Given the description of an element on the screen output the (x, y) to click on. 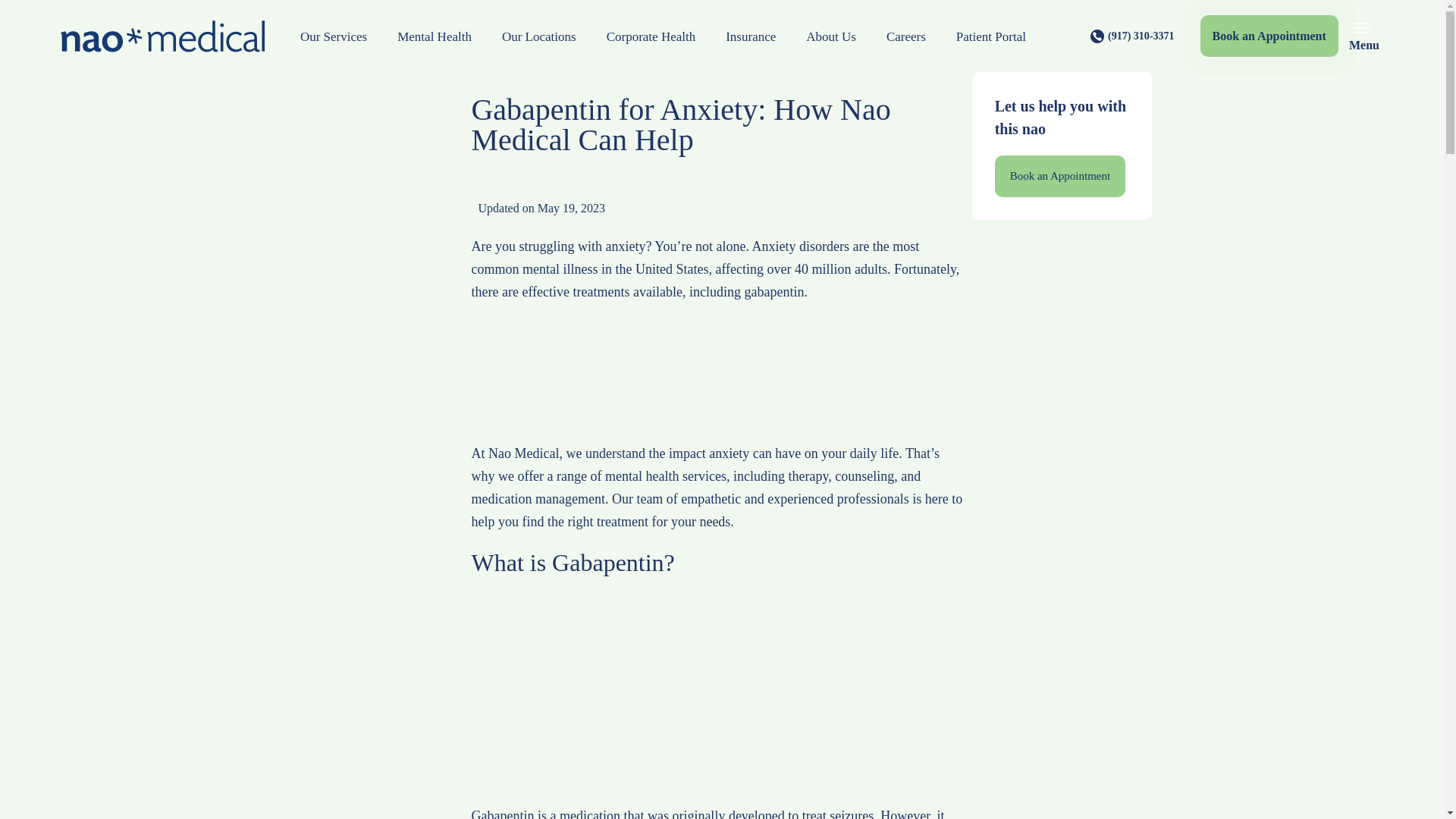
Advertisement (717, 380)
Our Locations (539, 36)
About Us (830, 36)
Advertisement (716, 698)
Mental Health (434, 36)
Corporate Health (650, 36)
Insurance (750, 36)
Our Services (333, 36)
Advertisement (1061, 754)
